Given the description of an element on the screen output the (x, y) to click on. 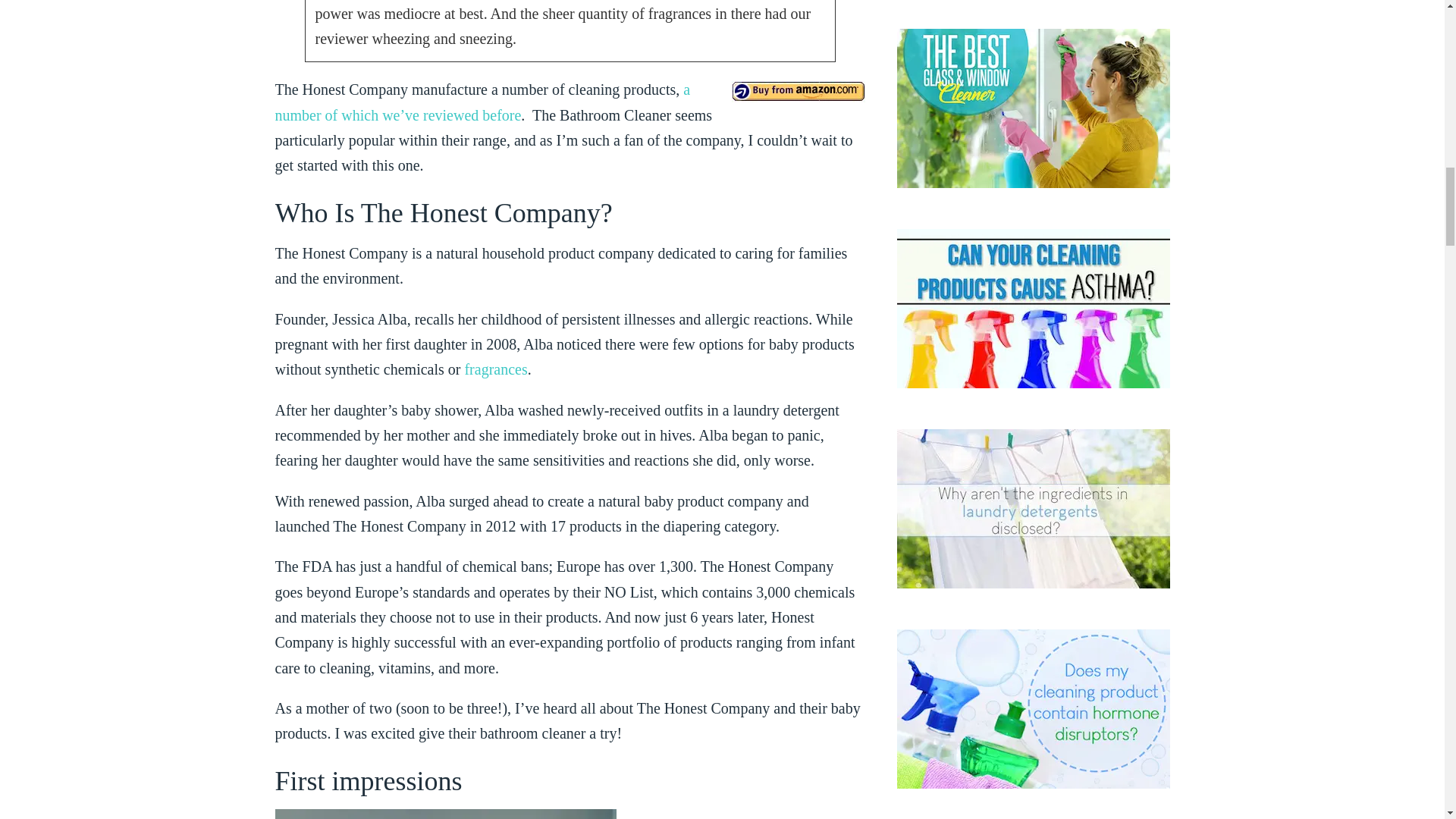
fragrances (495, 369)
